Given the description of an element on the screen output the (x, y) to click on. 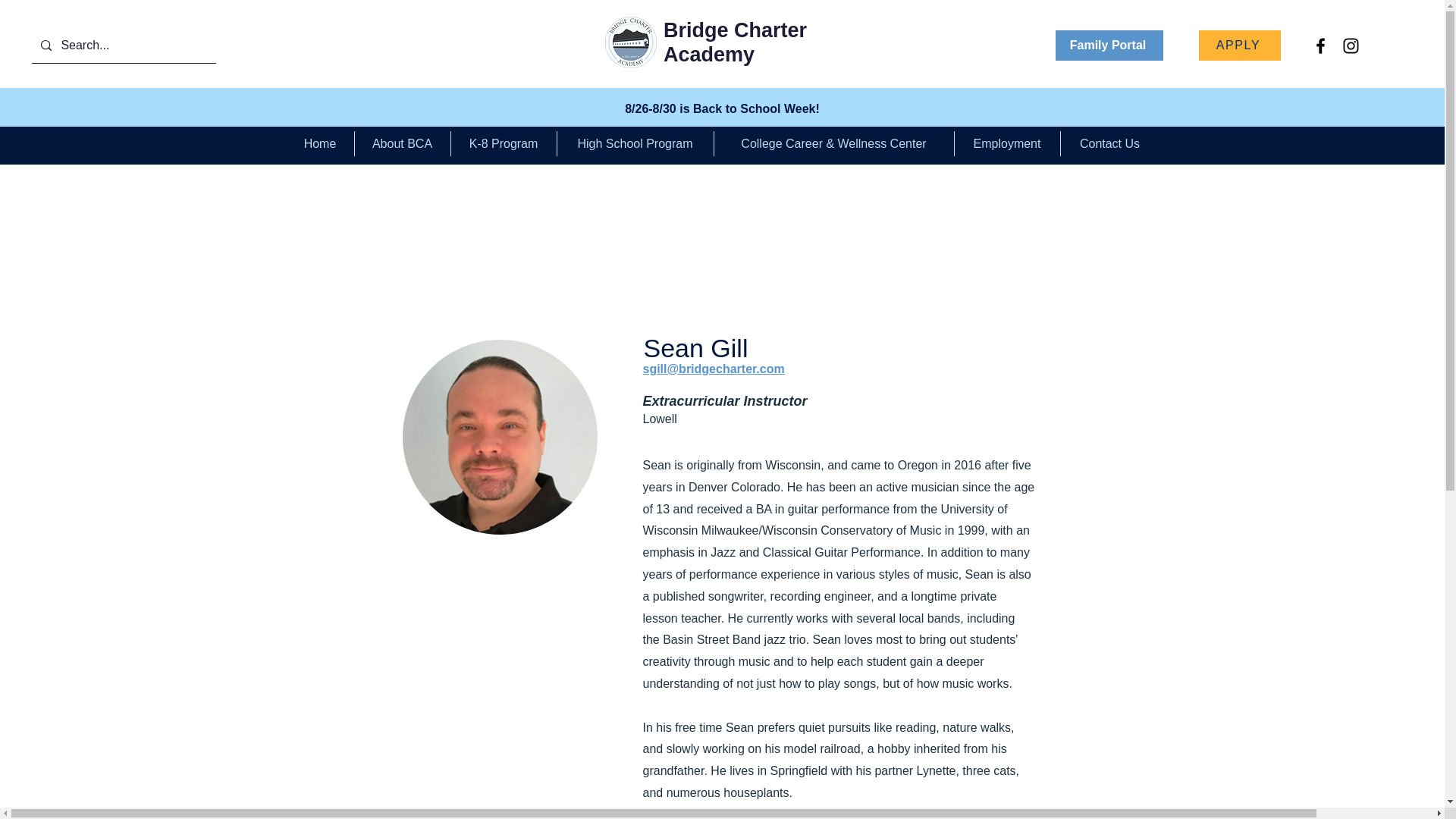
High School Program (634, 143)
About BCA (402, 143)
Employment (1006, 143)
APPLY (1239, 45)
K-8 Program (502, 143)
Bridge Charter Academy (734, 42)
Family Portal (1109, 45)
Home (319, 143)
sean.png (498, 436)
Contact Us (1108, 143)
